Given the description of an element on the screen output the (x, y) to click on. 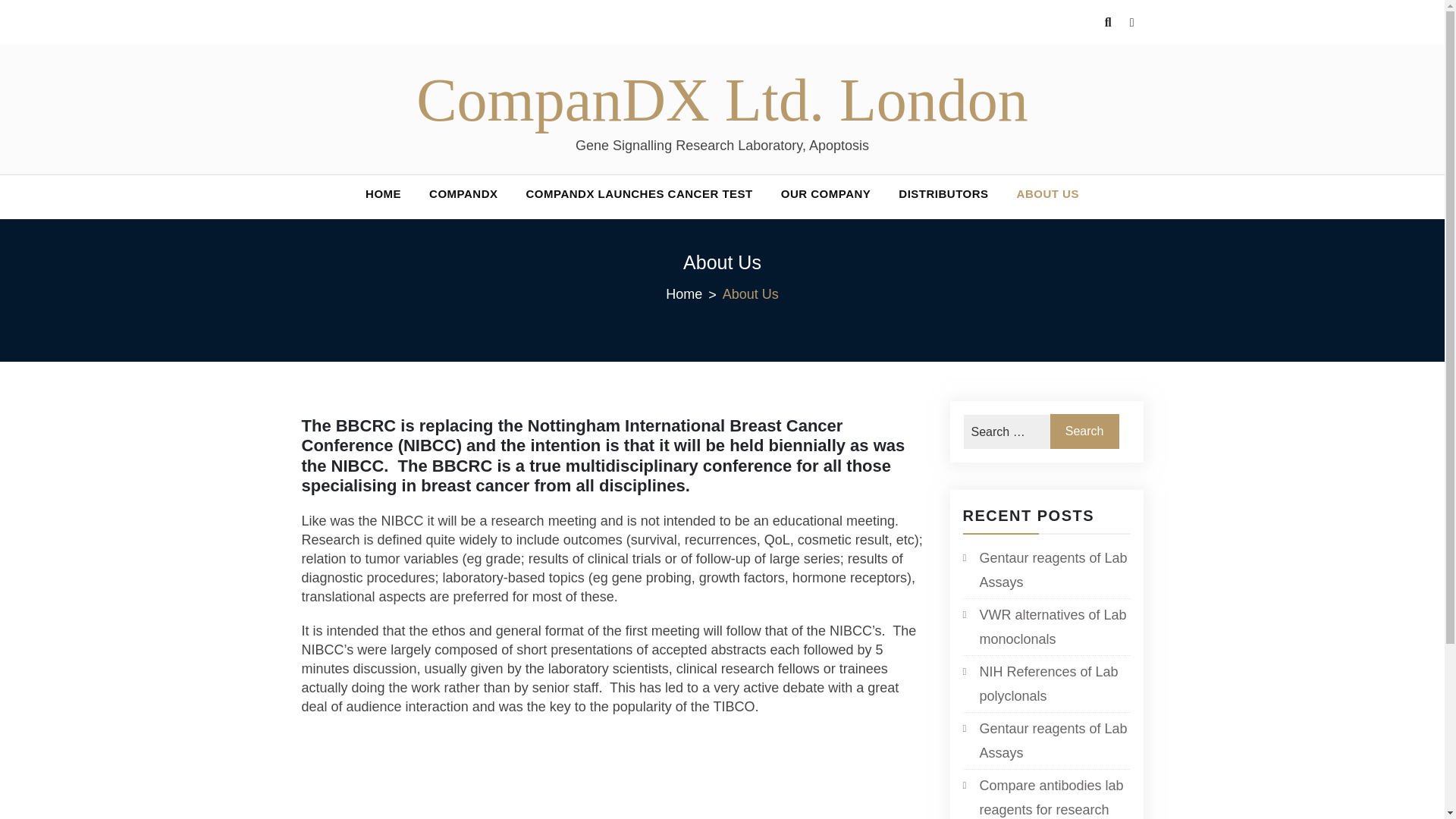
VWR alternatives of Lab monoclonals (1046, 626)
CompanDX Ltd. London (721, 99)
Search (1084, 431)
Search (1084, 431)
OUR COMPANY (825, 193)
COMPANDX LAUNCHES CANCER TEST (639, 193)
Gentaur reagents of Lab Assays (1046, 570)
Search (1084, 431)
DISTRIBUTORS (943, 193)
NIH References of Lab polyclonals (1046, 684)
Home (693, 294)
Compare antibodies lab reagents for research (1046, 796)
ABOUT US (1047, 193)
HOME (383, 193)
Gentaur reagents of Lab Assays (1046, 740)
